Given the description of an element on the screen output the (x, y) to click on. 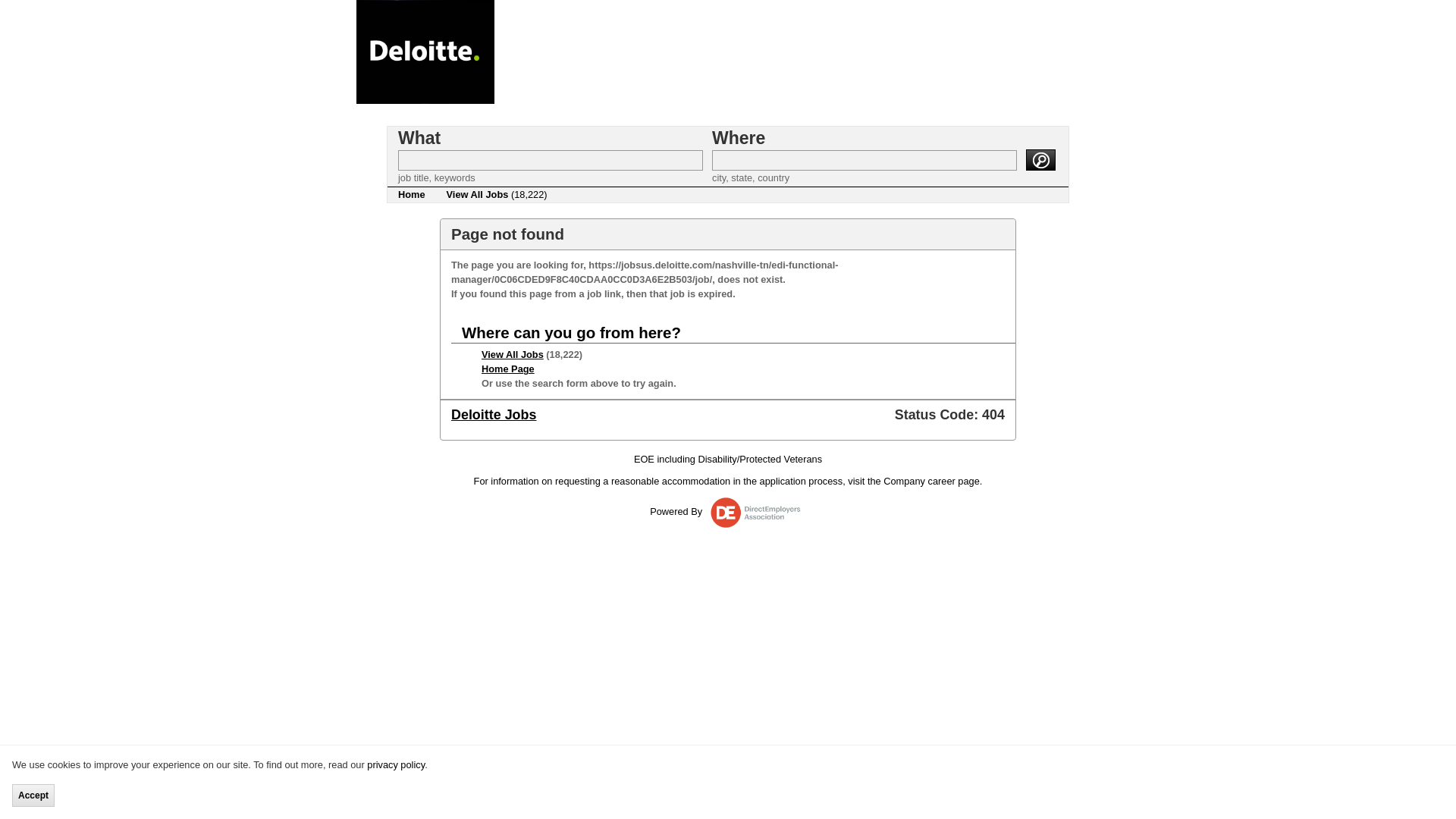
search (1040, 158)
Deloitte Jobs (493, 414)
search (1040, 158)
Submit Search (1040, 158)
View All Jobs (512, 354)
Home Page (507, 368)
Home (411, 193)
Search Location (863, 159)
Search Phrase (550, 159)
requesting a reasonable accommodation (642, 480)
visit the Company career page (913, 480)
